Given the description of an element on the screen output the (x, y) to click on. 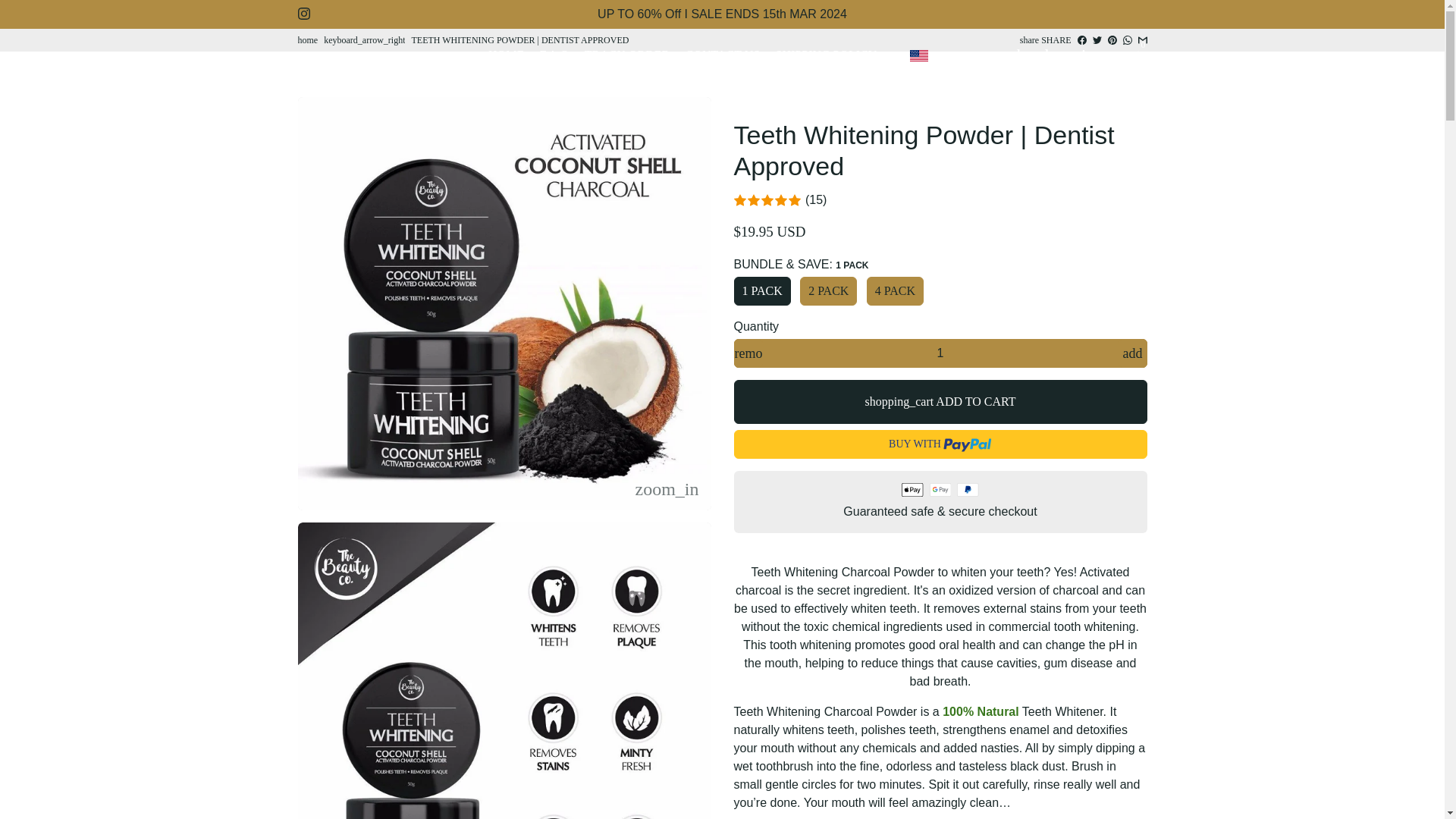
Cart (1089, 54)
home (307, 40)
TRACK ORDER (626, 54)
Search (1001, 54)
F.A.Q (554, 54)
CONTACT US (722, 54)
SHIPPING POLICY (826, 54)
1 (940, 353)
Weloveinnov (307, 40)
Weloveinnov on Instagram (302, 13)
search (1001, 54)
PayPal (967, 489)
